Given the description of an element on the screen output the (x, y) to click on. 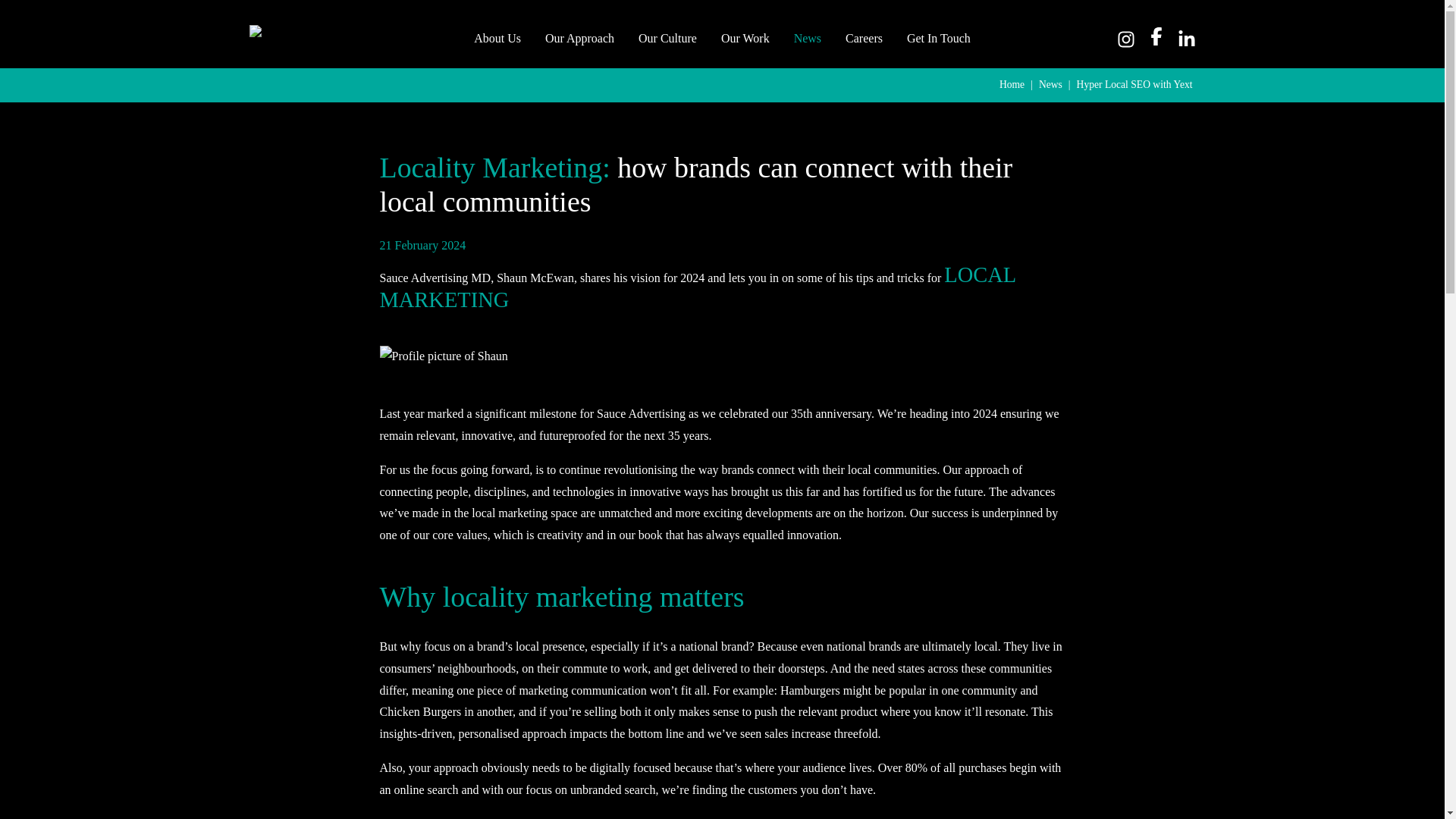
Our Culture (667, 38)
Our Approach (579, 38)
About Us (497, 38)
News (1050, 85)
Get In Touch (938, 38)
Our Work (745, 38)
Home (1011, 85)
